Given the description of an element on the screen output the (x, y) to click on. 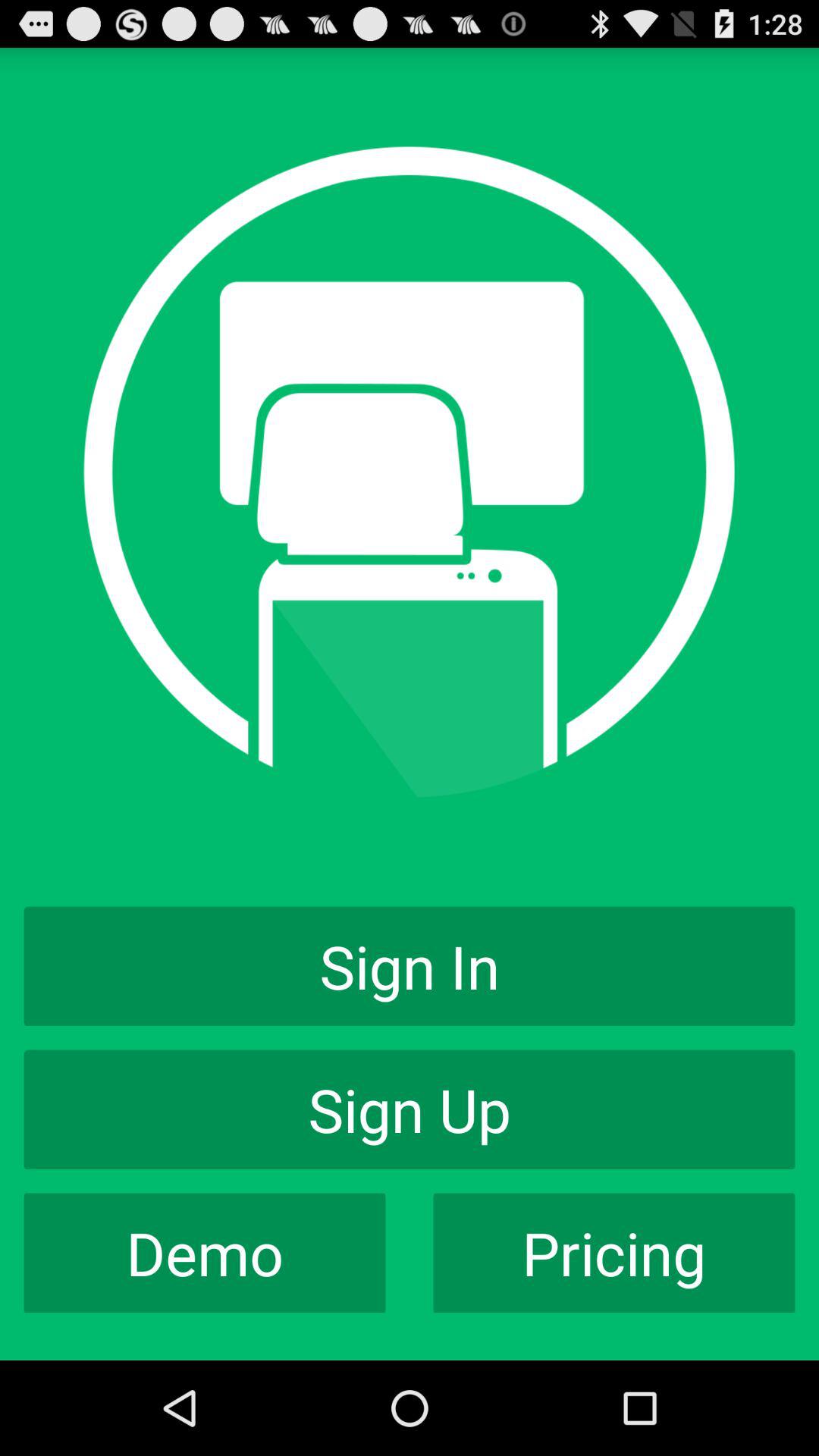
click app above the demo icon (409, 1109)
